Given the description of an element on the screen output the (x, y) to click on. 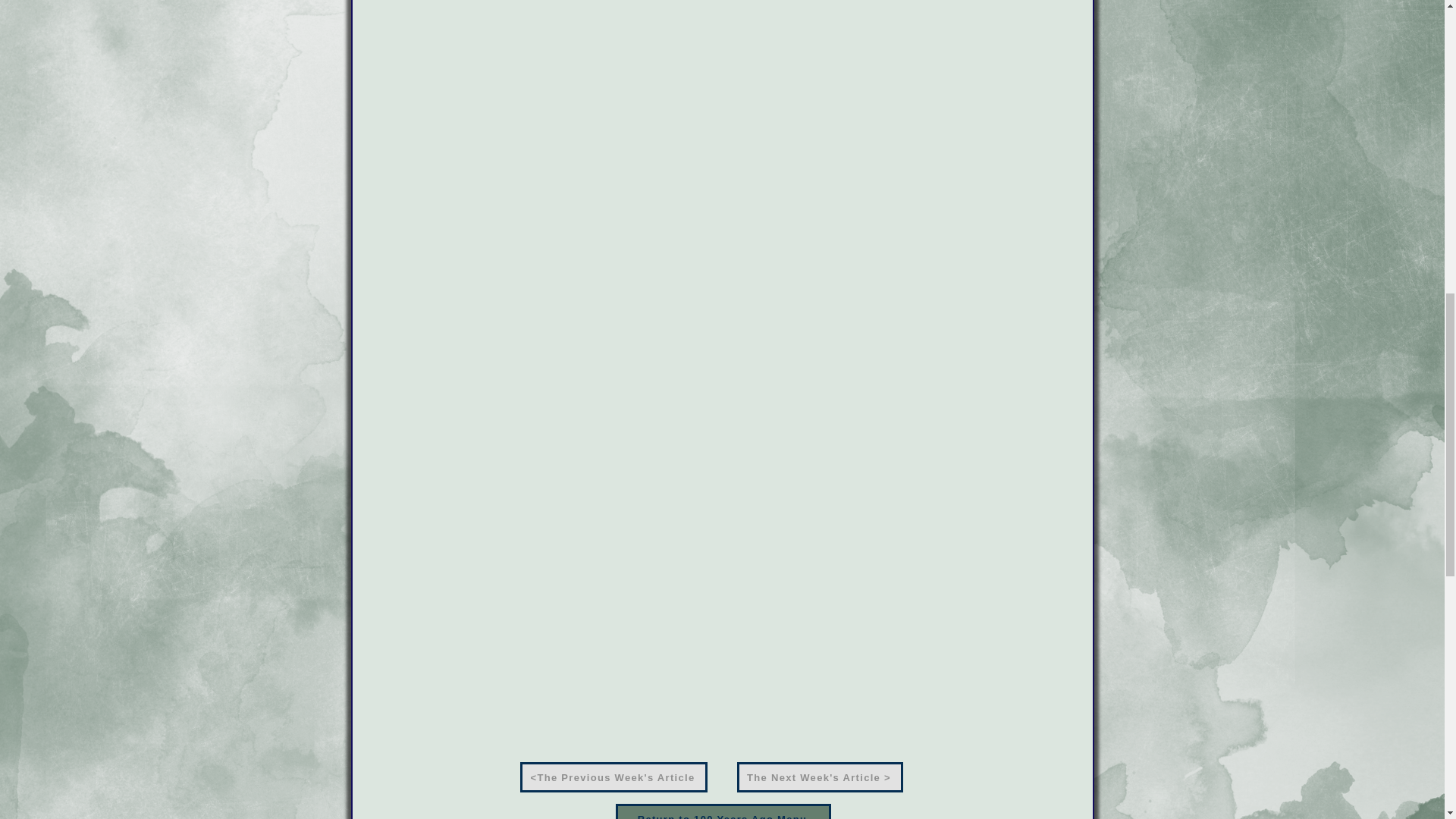
Return to 100 Years Ago Menu (723, 811)
